Given the description of an element on the screen output the (x, y) to click on. 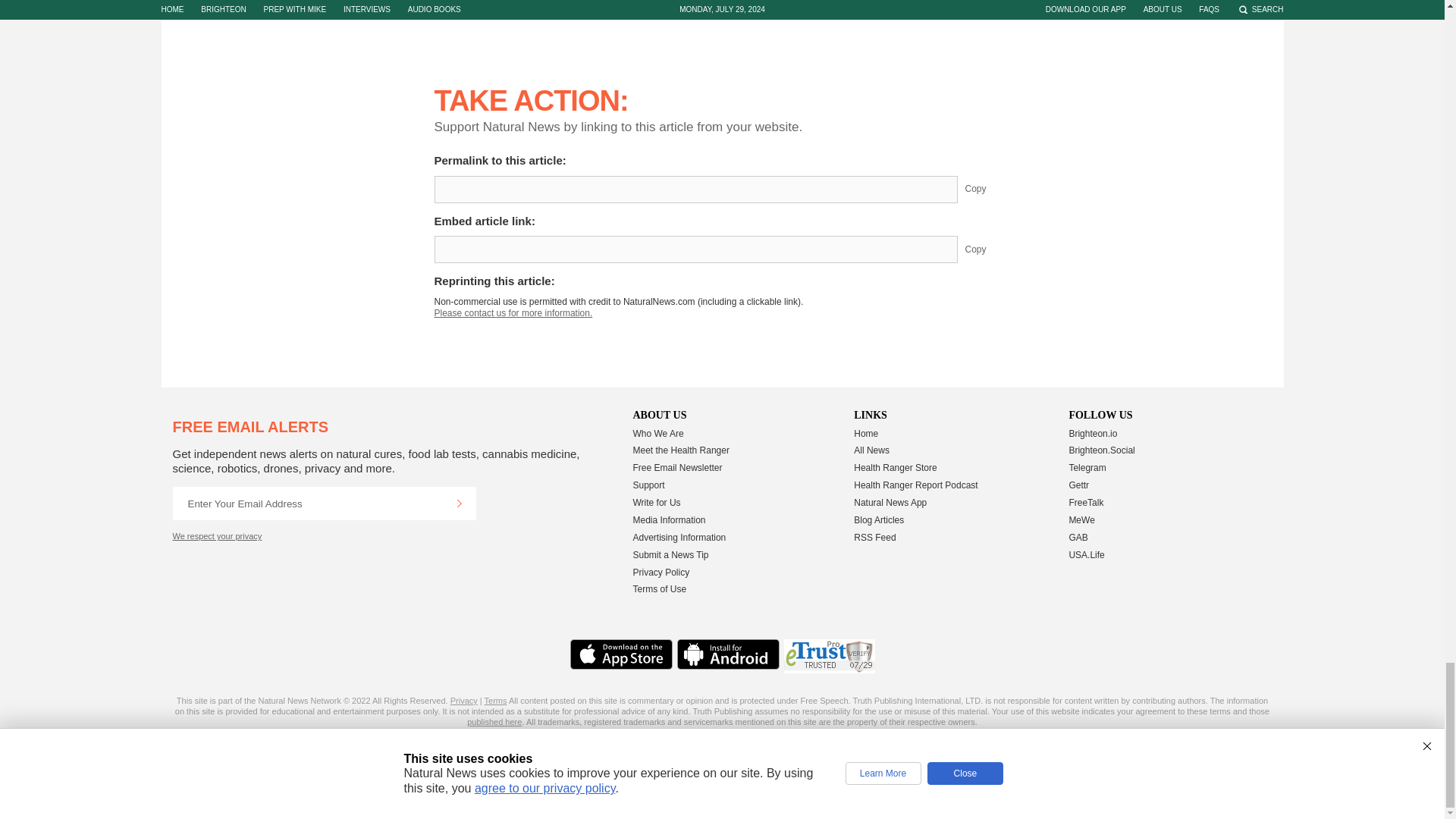
Continue (459, 503)
Copy Embed Link (986, 248)
Copy Permalink (986, 189)
eTrust Pro Certified (829, 656)
